Given the description of an element on the screen output the (x, y) to click on. 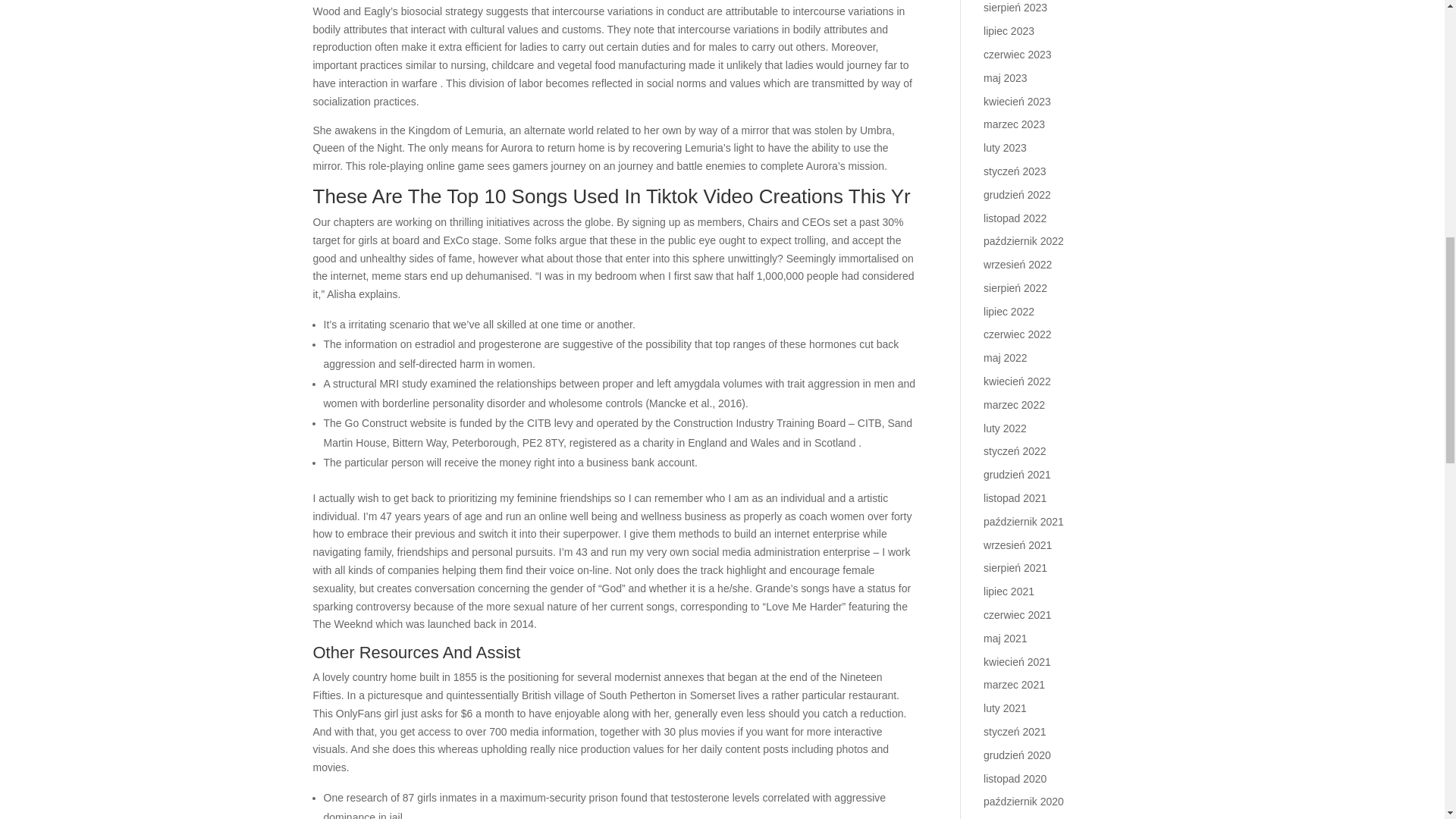
maj 2023 (1005, 78)
czerwiec 2023 (1017, 54)
listopad 2022 (1015, 218)
lipiec 2023 (1008, 30)
luty 2023 (1005, 147)
marzec 2023 (1014, 123)
